Given the description of an element on the screen output the (x, y) to click on. 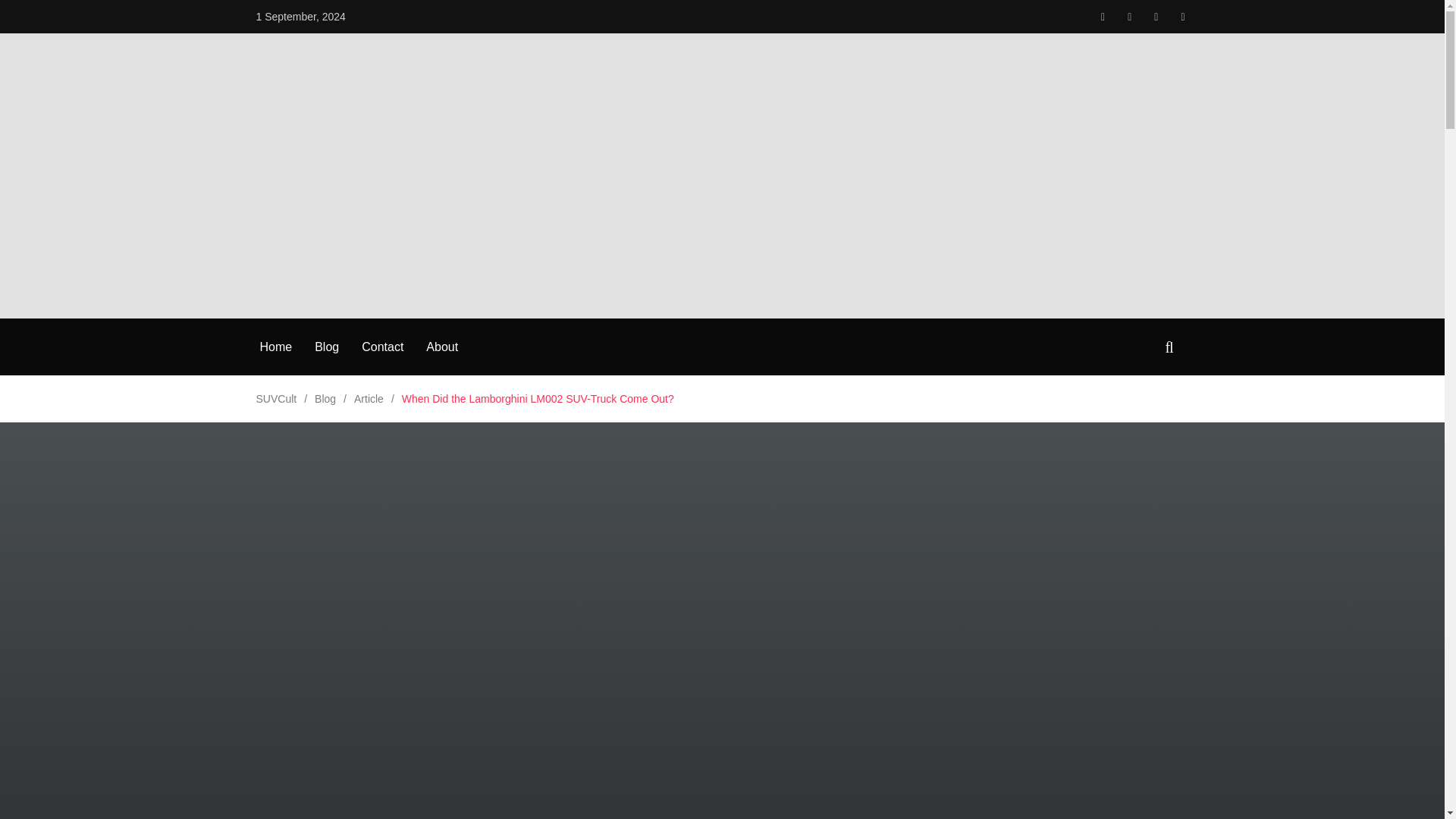
Home (275, 347)
SUVCult (276, 398)
Blog (325, 398)
Go to the Article Category archives. (368, 398)
About (442, 347)
Contact (382, 347)
Go to Blog. (325, 398)
Blog (326, 347)
Article (368, 398)
Go to SUVCult. (276, 398)
